Given the description of an element on the screen output the (x, y) to click on. 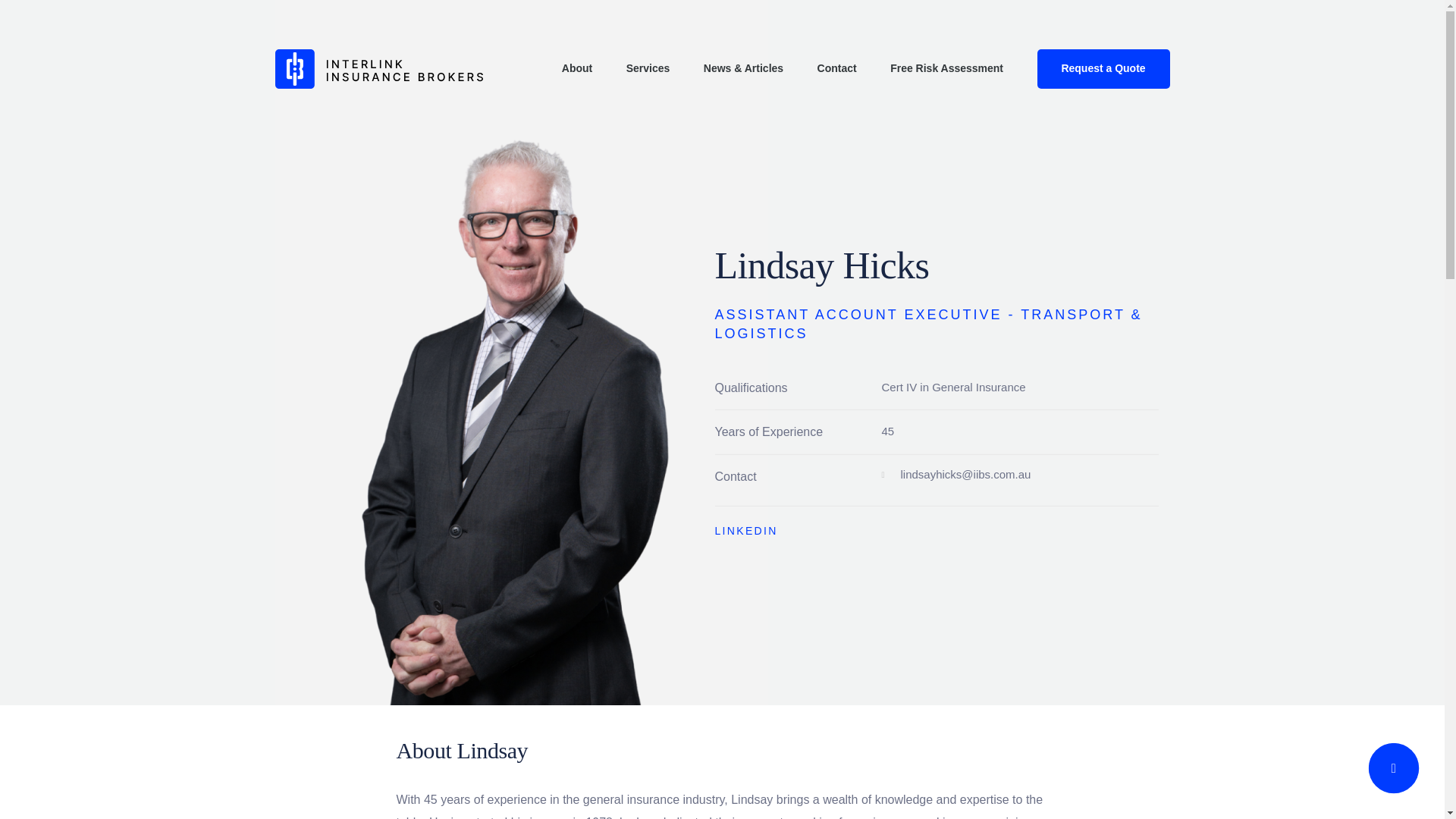
LINKEDIN (745, 530)
Interlink Insurance Brokers (378, 68)
Services (647, 68)
Free Risk Assessment (946, 68)
Request a Quote (1103, 68)
